Given the description of an element on the screen output the (x, y) to click on. 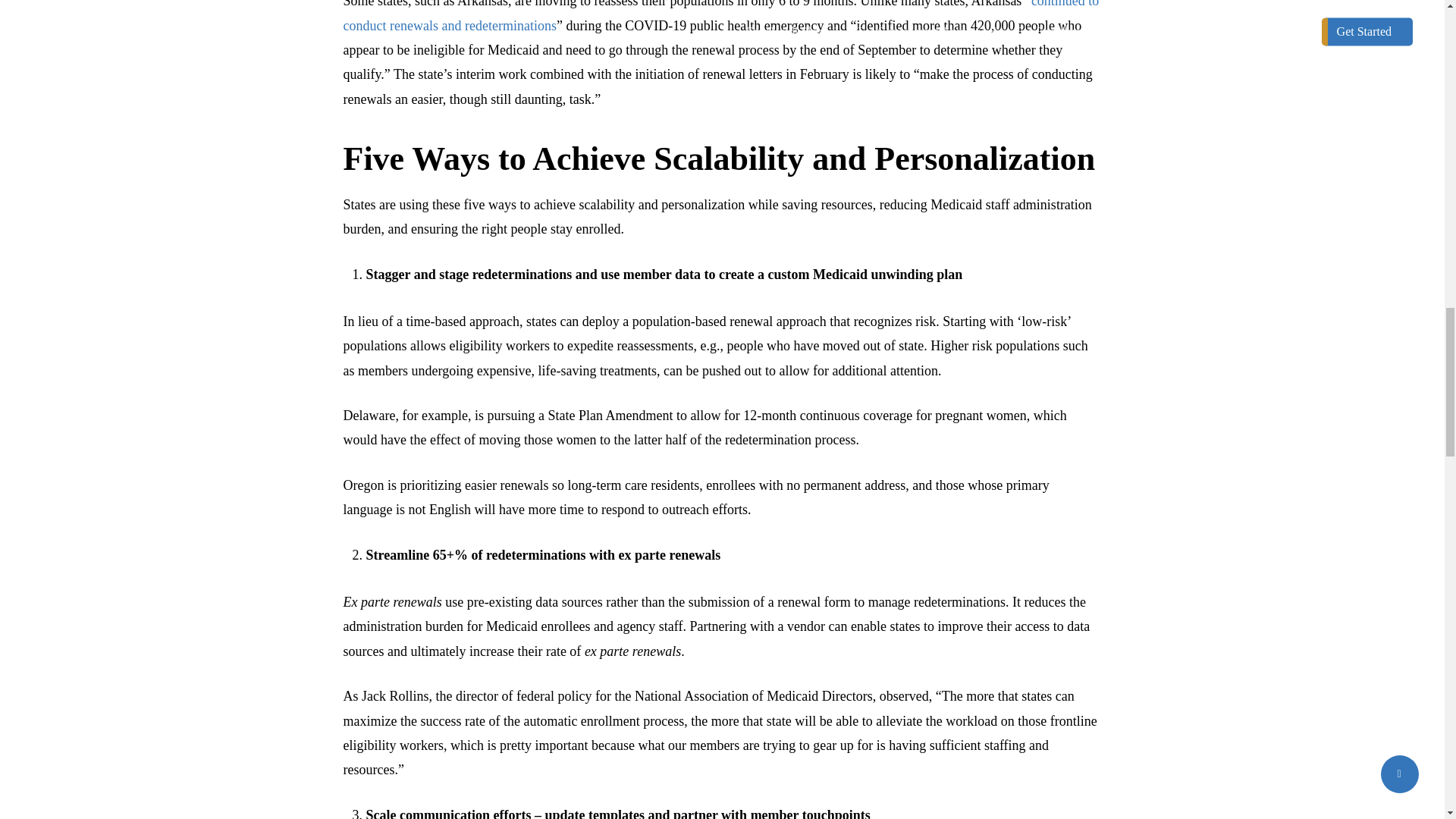
continued to conduct renewals and redeterminations (720, 16)
